Given the description of an element on the screen output the (x, y) to click on. 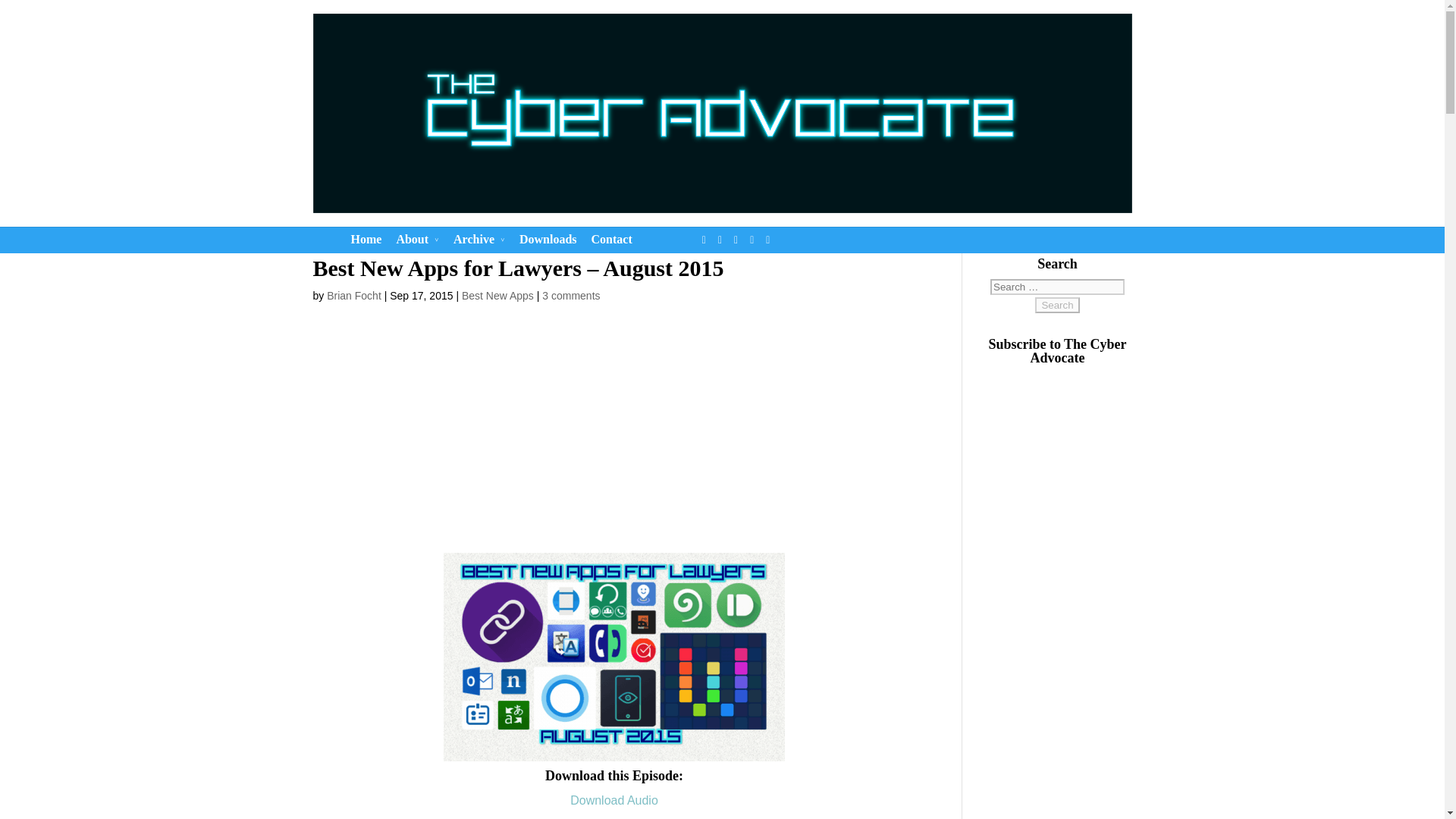
Advertisement (620, 438)
Posts by Brian Focht (353, 295)
3 comments (570, 295)
Contact (611, 243)
Search (1056, 304)
Brian Focht (353, 295)
Archive (478, 243)
Search (1056, 304)
Download Audio (614, 799)
Downloads (547, 243)
